Given the description of an element on the screen output the (x, y) to click on. 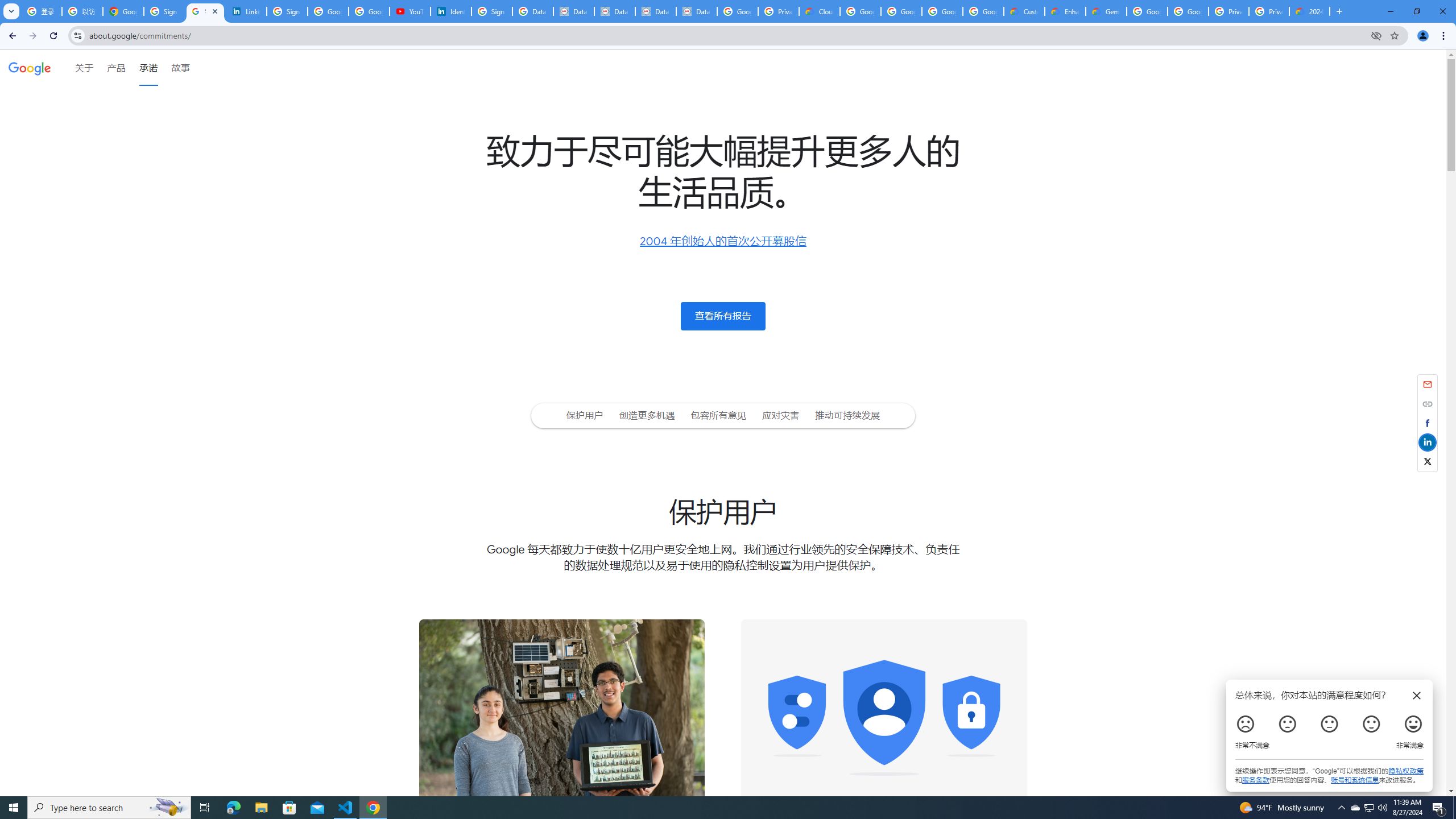
Identity verification via Persona | LinkedIn Help (450, 11)
